Given the description of an element on the screen output the (x, y) to click on. 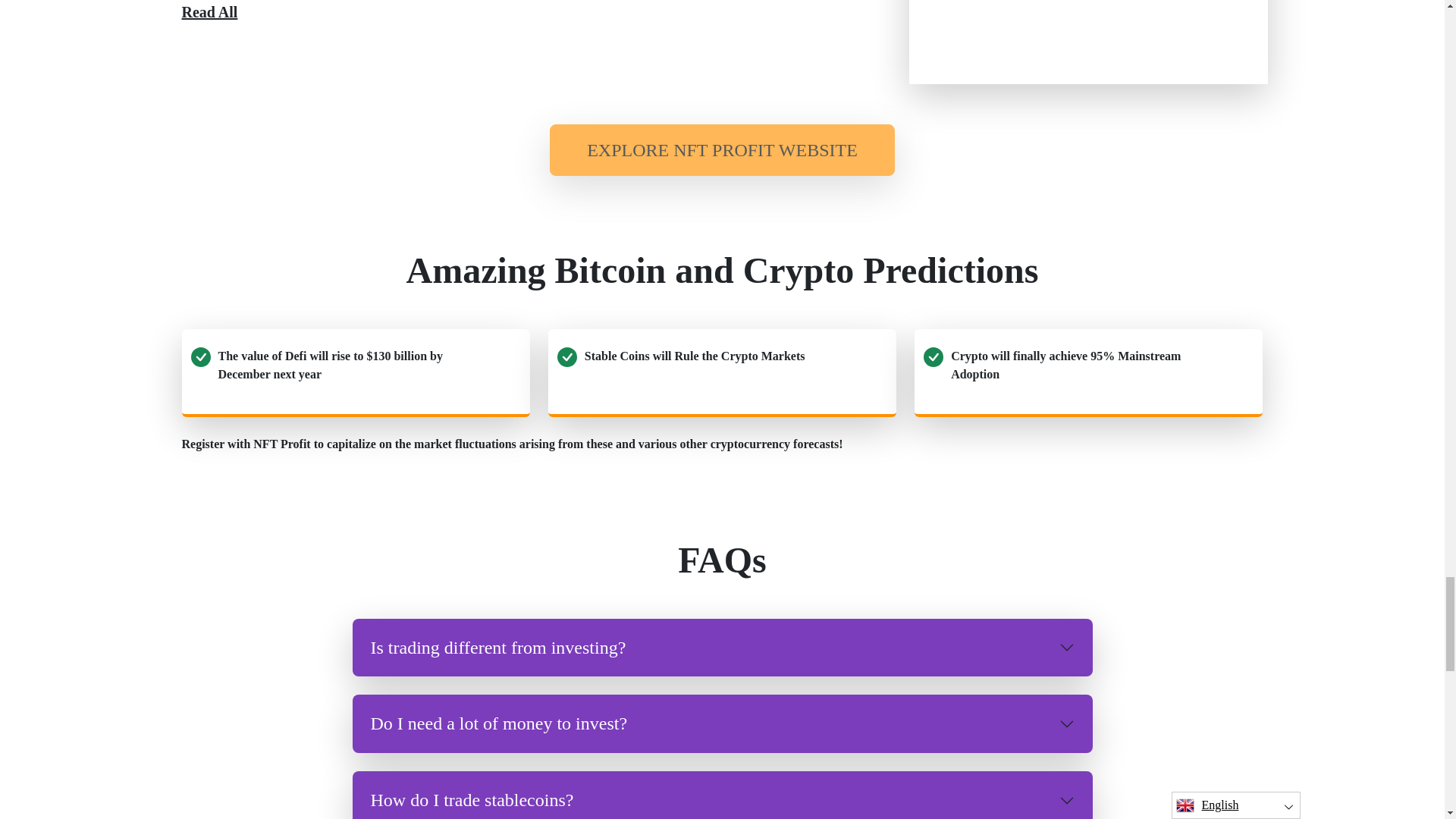
How do I trade stablecoins? (722, 795)
Do I need a lot of money to invest? (722, 723)
Is trading different from investing? (722, 648)
EXPLORE NFT PROFIT WEBSITE (722, 150)
